Given the description of an element on the screen output the (x, y) to click on. 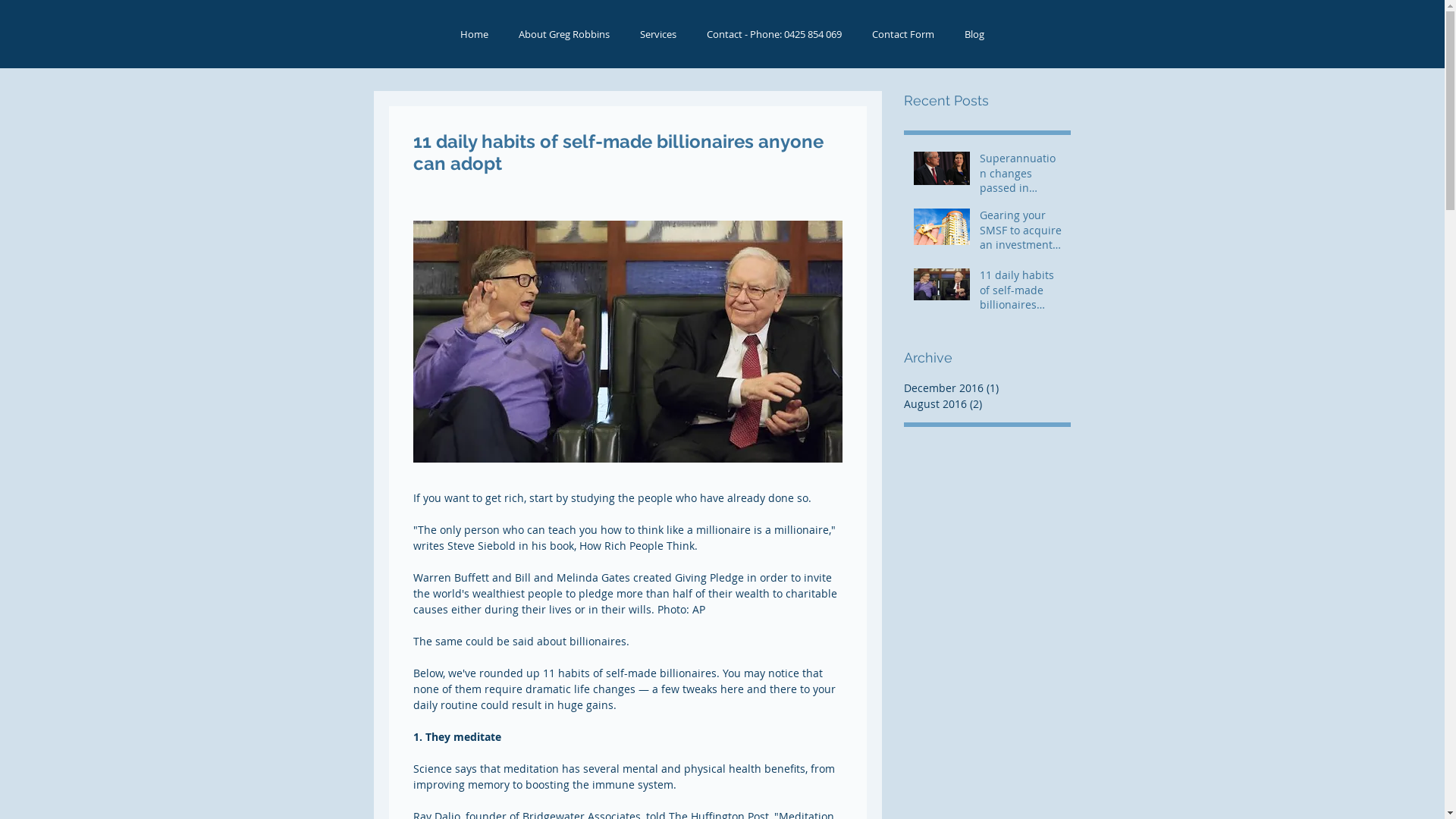
December 2016 (1) Element type: text (983, 387)
Gearing your SMSF to acquire an investment property Element type: text (1020, 232)
Contact Form Element type: text (902, 33)
August 2016 (2) Element type: text (983, 403)
Blog Element type: text (974, 33)
11 daily habits of self-made billionaires anyone can adopt Element type: text (1020, 292)
Services Element type: text (657, 33)
Home Element type: text (473, 33)
Superannuation changes passed in Parliament Element type: text (1020, 175)
About Greg Robbins Element type: text (563, 33)
Contact - Phone: 0425 854 069 Element type: text (773, 33)
